Given the description of an element on the screen output the (x, y) to click on. 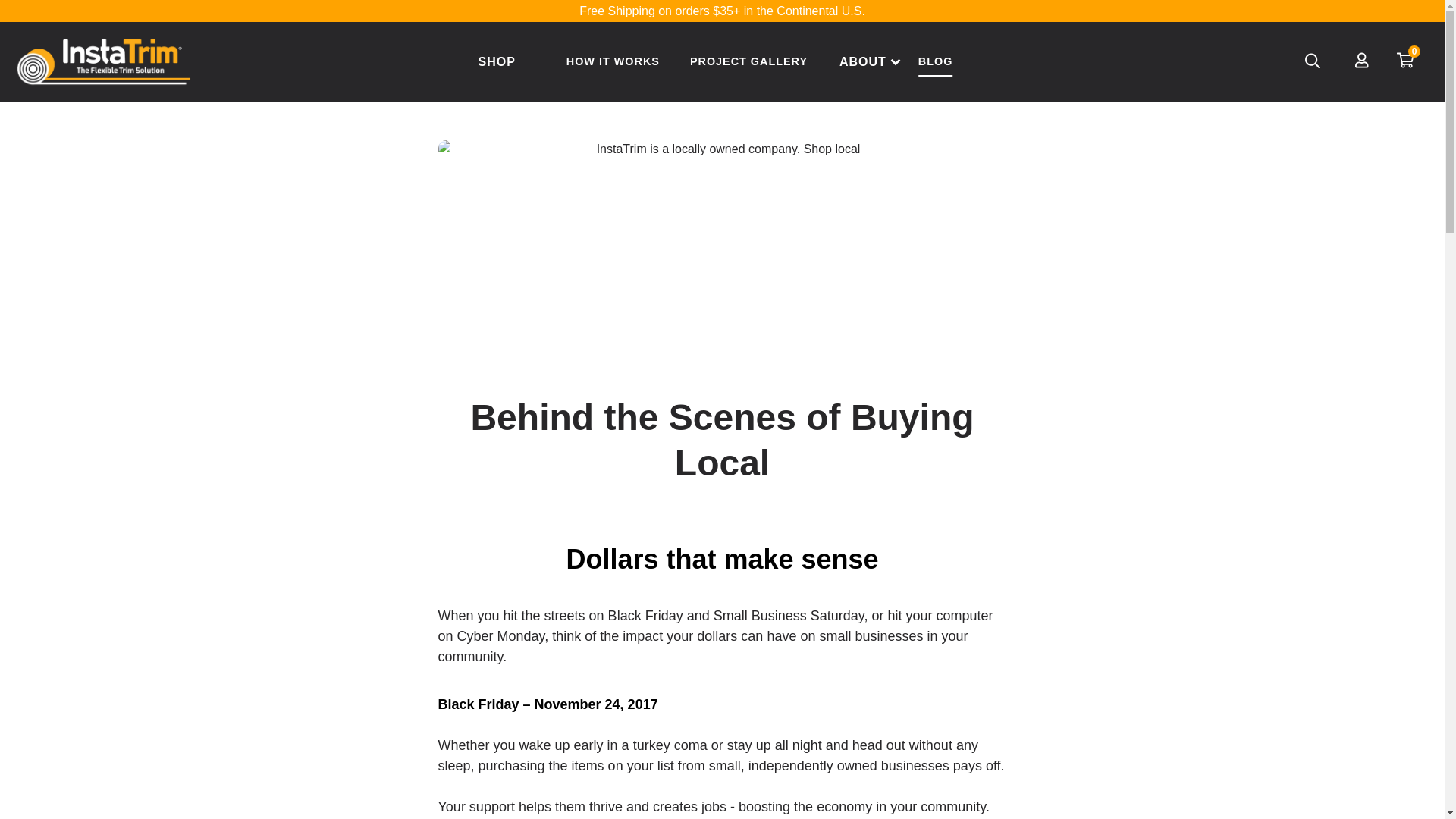
BLOG (935, 61)
0 (1411, 58)
PROJECT GALLERY (749, 61)
HOW IT WORKS (612, 61)
ABOUT (863, 61)
SHOP (496, 61)
